Given the description of an element on the screen output the (x, y) to click on. 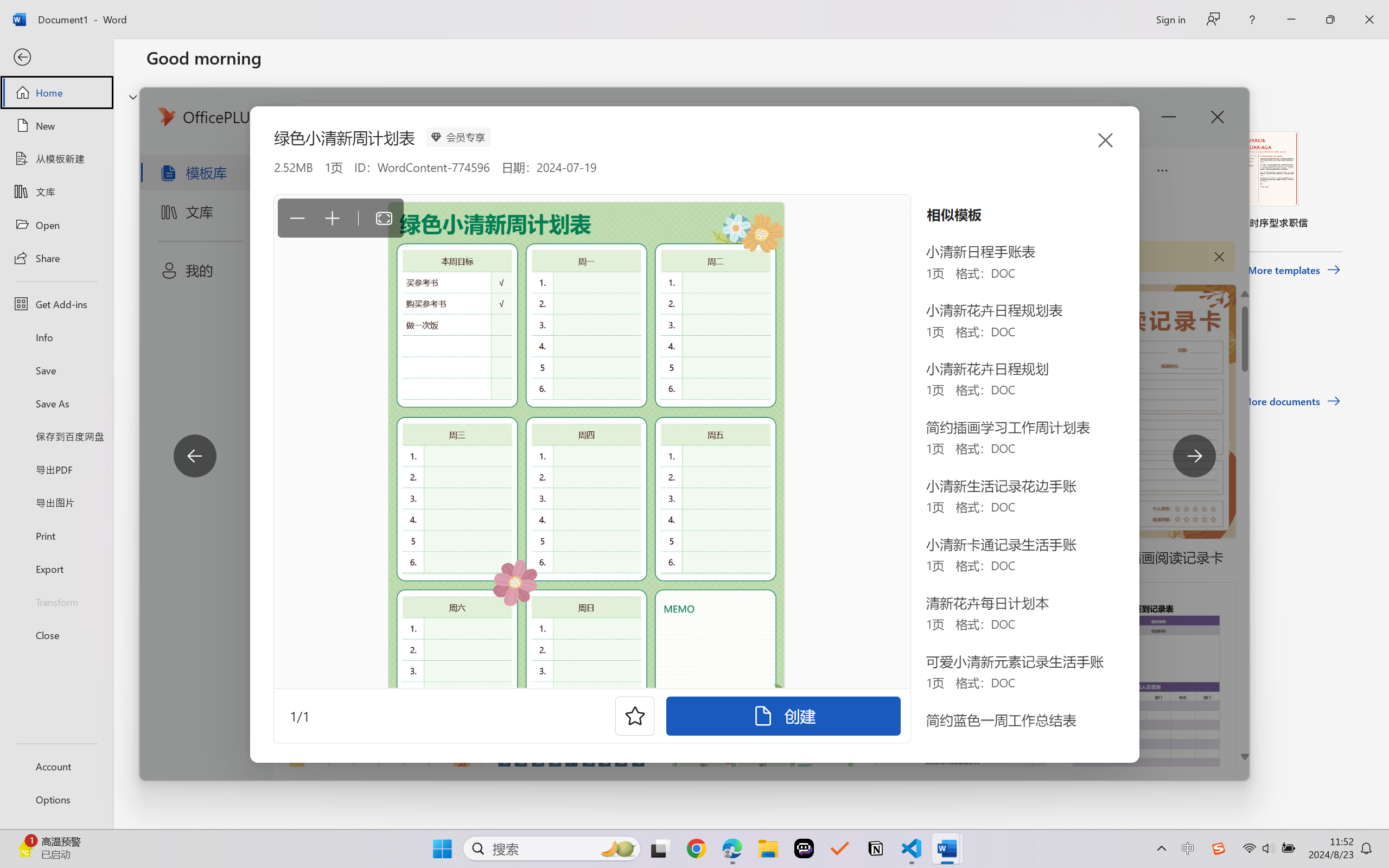
New (56, 125)
Export (56, 568)
Transform (56, 601)
Blank document (219, 180)
